Given the description of an element on the screen output the (x, y) to click on. 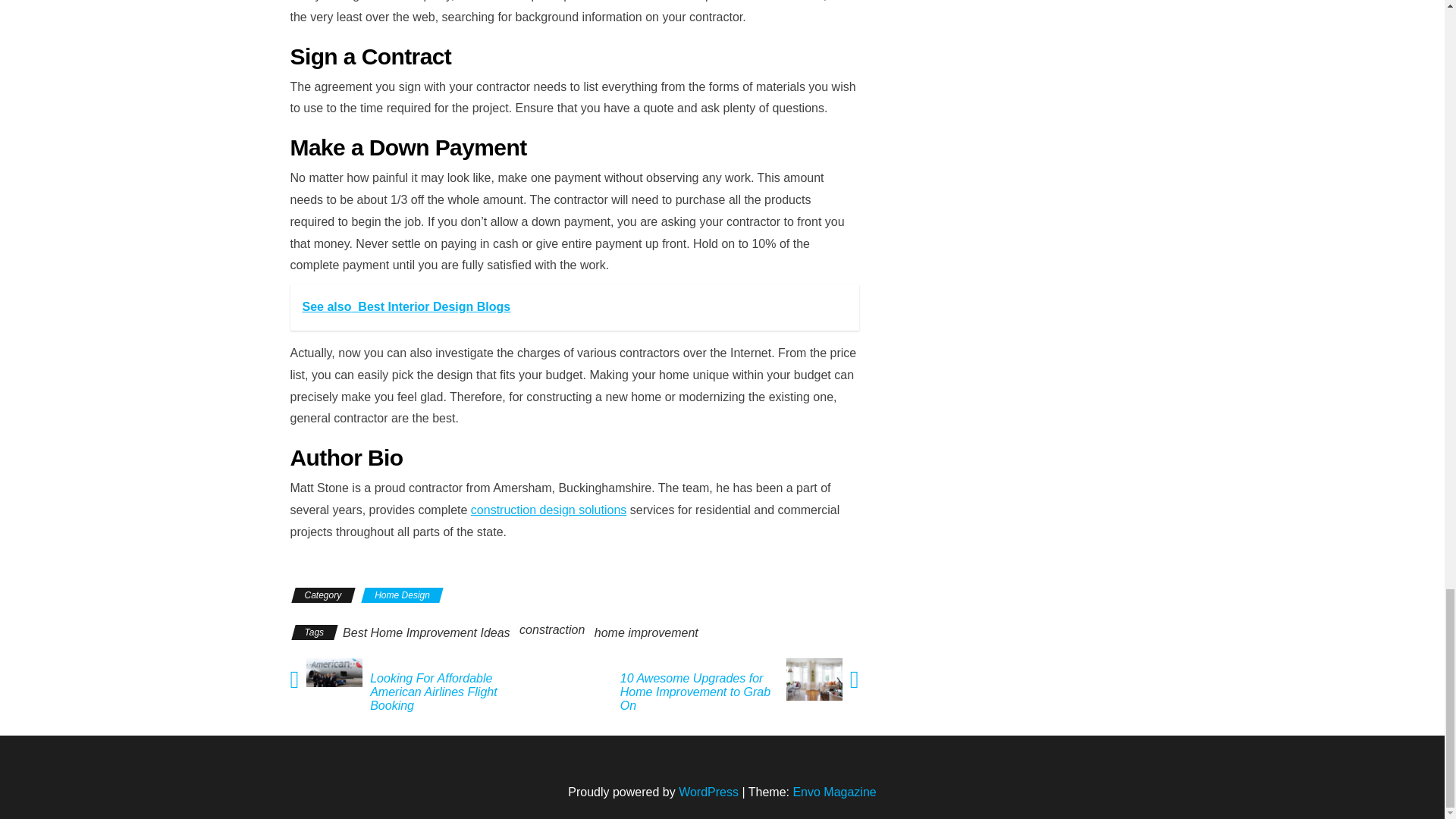
construction design solutions (548, 509)
Best Home Improvement Ideas (426, 632)
constraction (552, 629)
Home Design (401, 595)
10 Awesome Upgrades for Home Improvement to Grab On (695, 691)
See also  Best Interior Design Blogs (574, 307)
Looking For Affordable American Airlines Flight Booking (452, 691)
home improvement (646, 632)
